Given the description of an element on the screen output the (x, y) to click on. 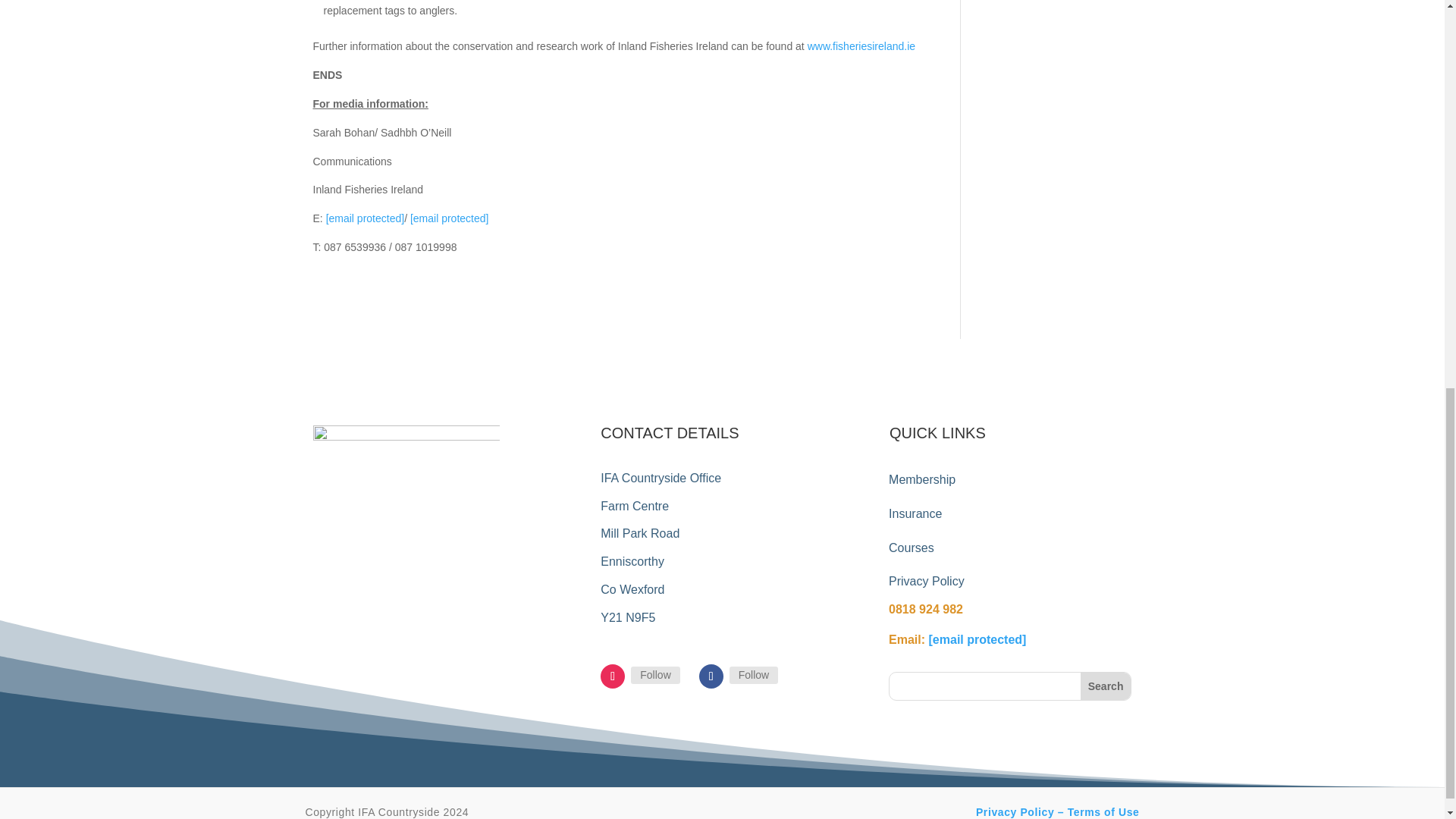
IFA-Countryside-Logo-Stamp-Colour-Feb24 (406, 518)
Search (1105, 686)
Follow on Instagram (611, 676)
Search (1105, 686)
Facebook (753, 674)
Follow on Facebook (710, 676)
Instagram (654, 674)
www.fisheriesireland.ie (861, 46)
Follow (654, 674)
